Given the description of an element on the screen output the (x, y) to click on. 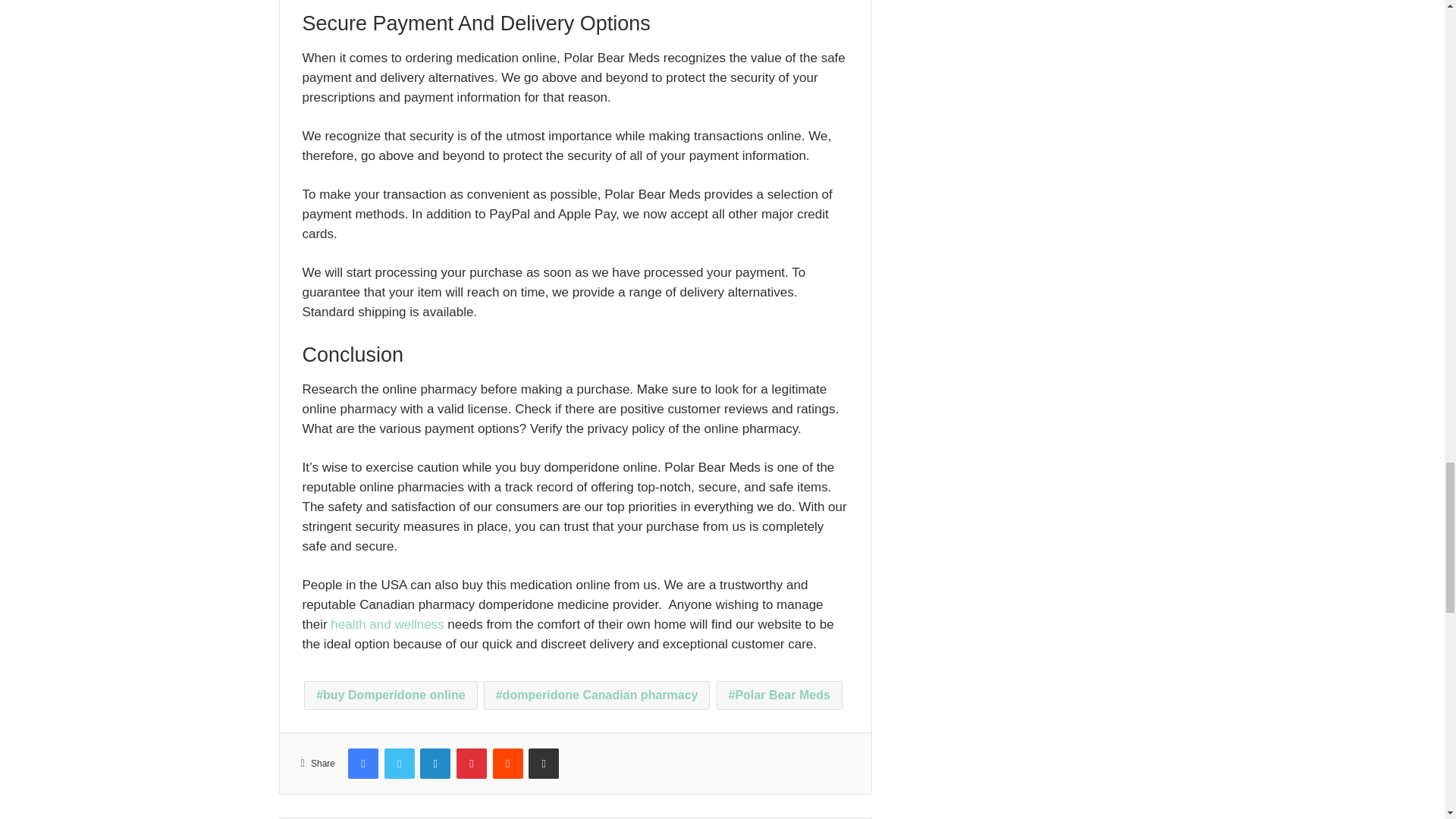
Twitter (399, 763)
Twitter (399, 763)
Reddit (507, 763)
Pinterest (471, 763)
Polar Bear Meds (779, 695)
LinkedIn (434, 763)
Facebook (362, 763)
LinkedIn (434, 763)
Share via Email (543, 763)
domperidone Canadian pharmacy (596, 695)
